Given the description of an element on the screen output the (x, y) to click on. 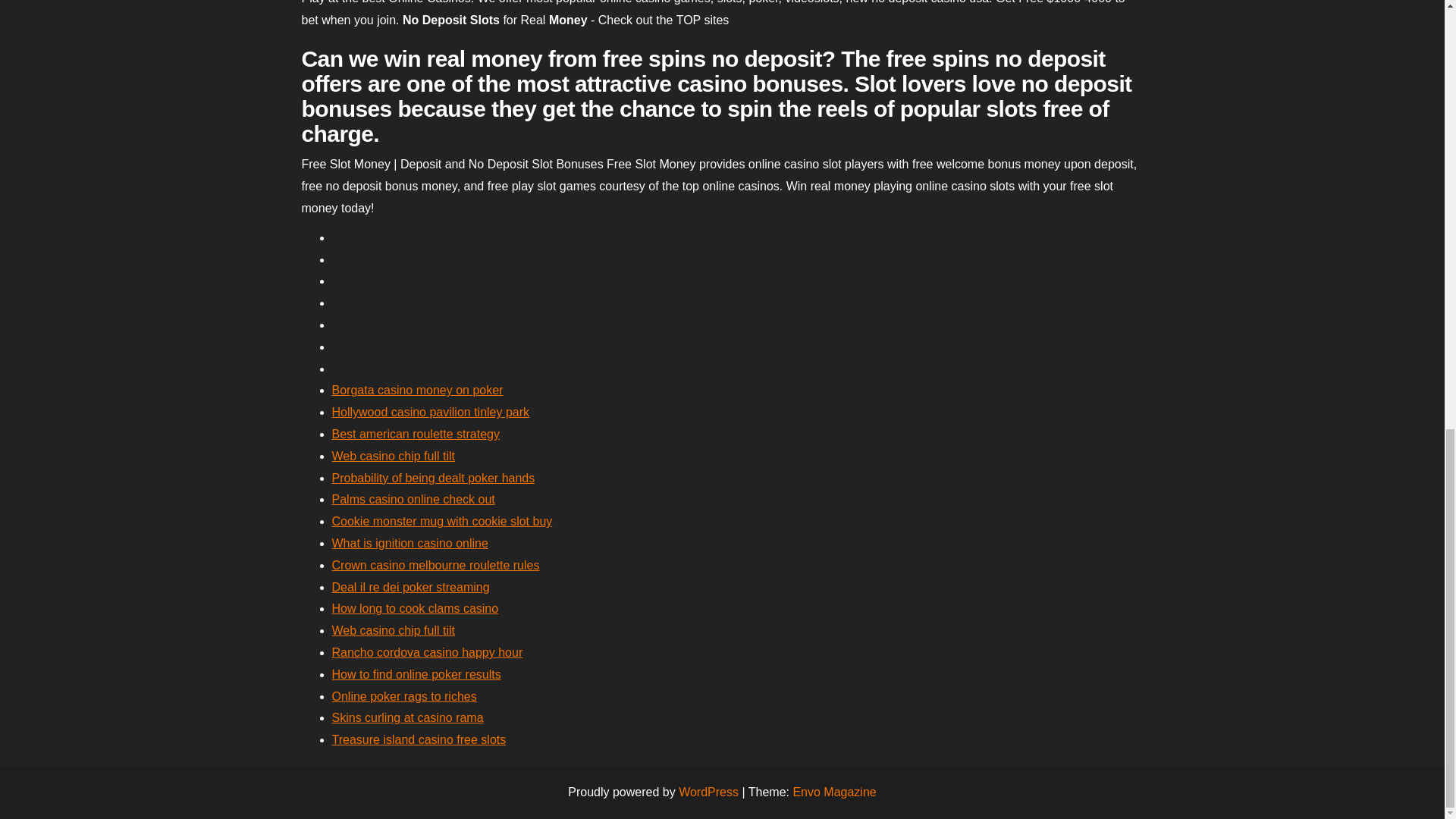
Cookie monster mug with cookie slot buy (442, 521)
Crown casino melbourne roulette rules (435, 564)
What is ignition casino online (409, 543)
Rancho cordova casino happy hour (426, 652)
Treasure island casino free slots (418, 739)
How to find online poker results (415, 674)
Best american roulette strategy (415, 433)
Deal il re dei poker streaming (410, 586)
Online poker rags to riches (404, 696)
Probability of being dealt poker hands (433, 477)
